Given the description of an element on the screen output the (x, y) to click on. 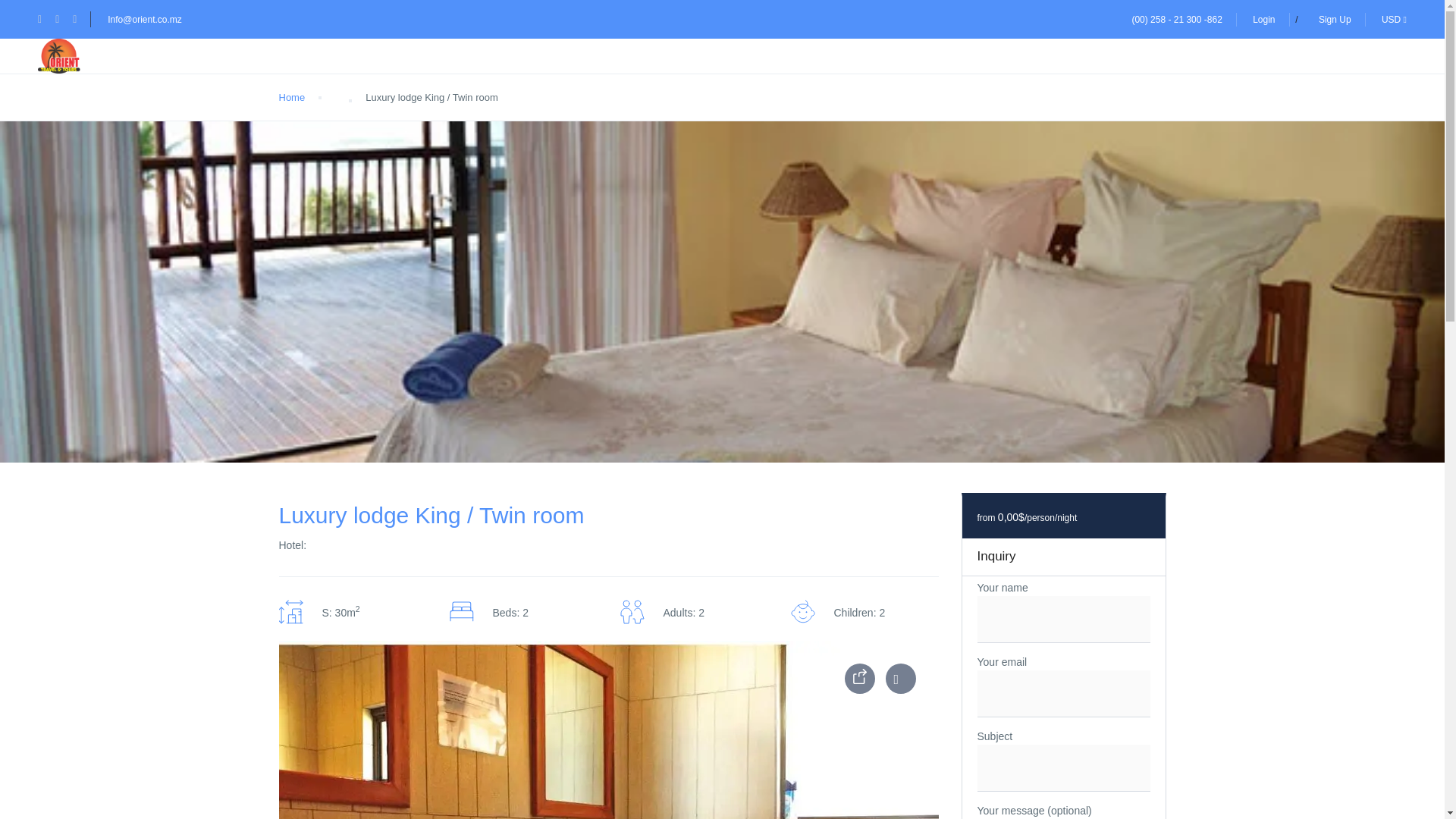
USD (1393, 18)
Home (292, 97)
Sign Up (1335, 18)
Login (1263, 18)
Send message (50, 15)
